Given the description of an element on the screen output the (x, y) to click on. 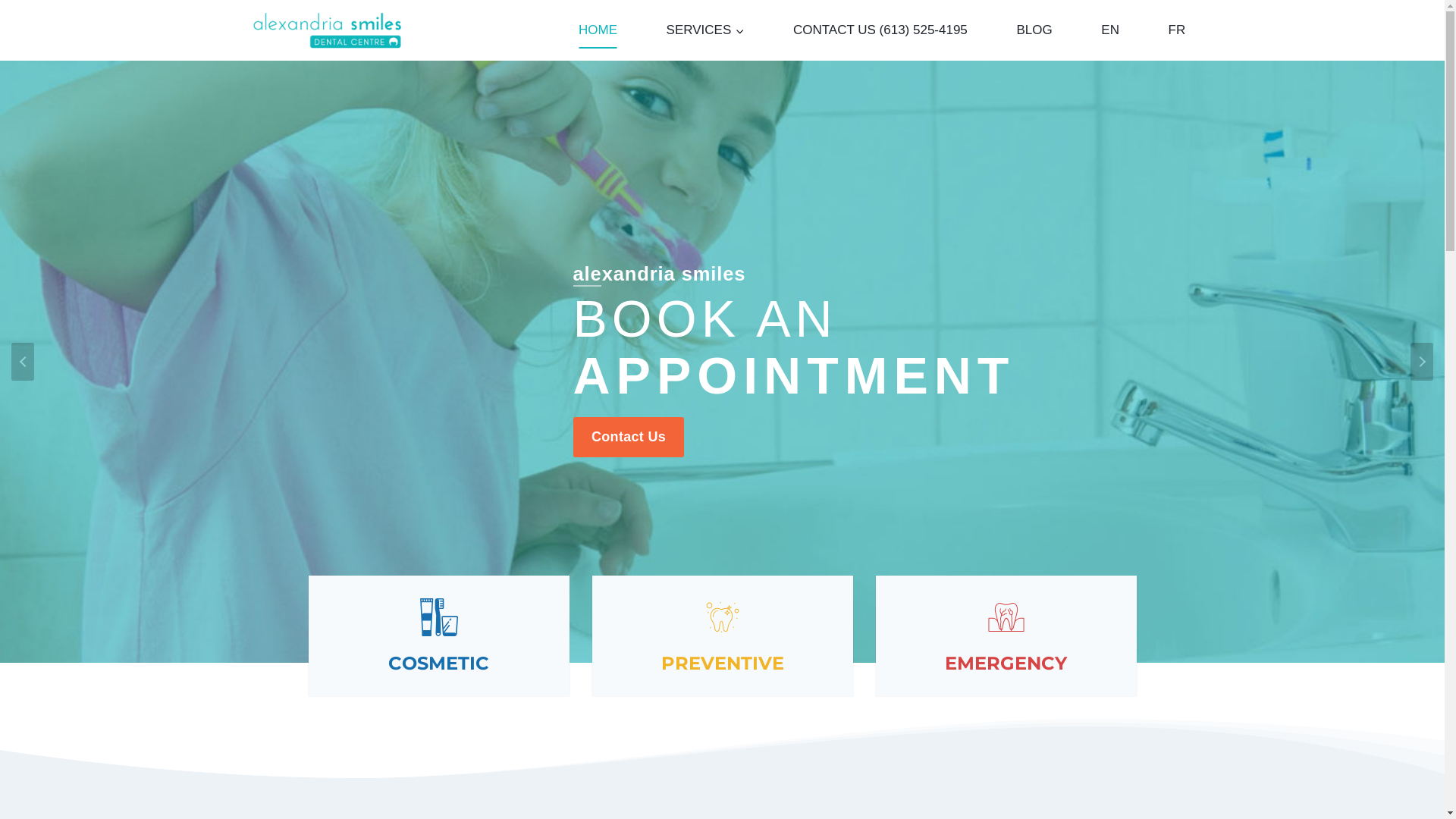
PREVENTIVE Element type: text (721, 635)
HOME Element type: text (597, 30)
Contact Us Element type: text (628, 437)
Previous Element type: text (22, 361)
COSMETIC Element type: text (437, 635)
1 Element type: text (713, 673)
EMERGENCY Element type: text (1005, 635)
BLOG Element type: text (1034, 30)
SERVICES Element type: text (704, 30)
2 Element type: text (729, 673)
EN Element type: text (1109, 30)
CONTACT US (613) 525-4195 Element type: text (880, 30)
Next Element type: text (1421, 361)
FR Element type: text (1176, 30)
